Given the description of an element on the screen output the (x, y) to click on. 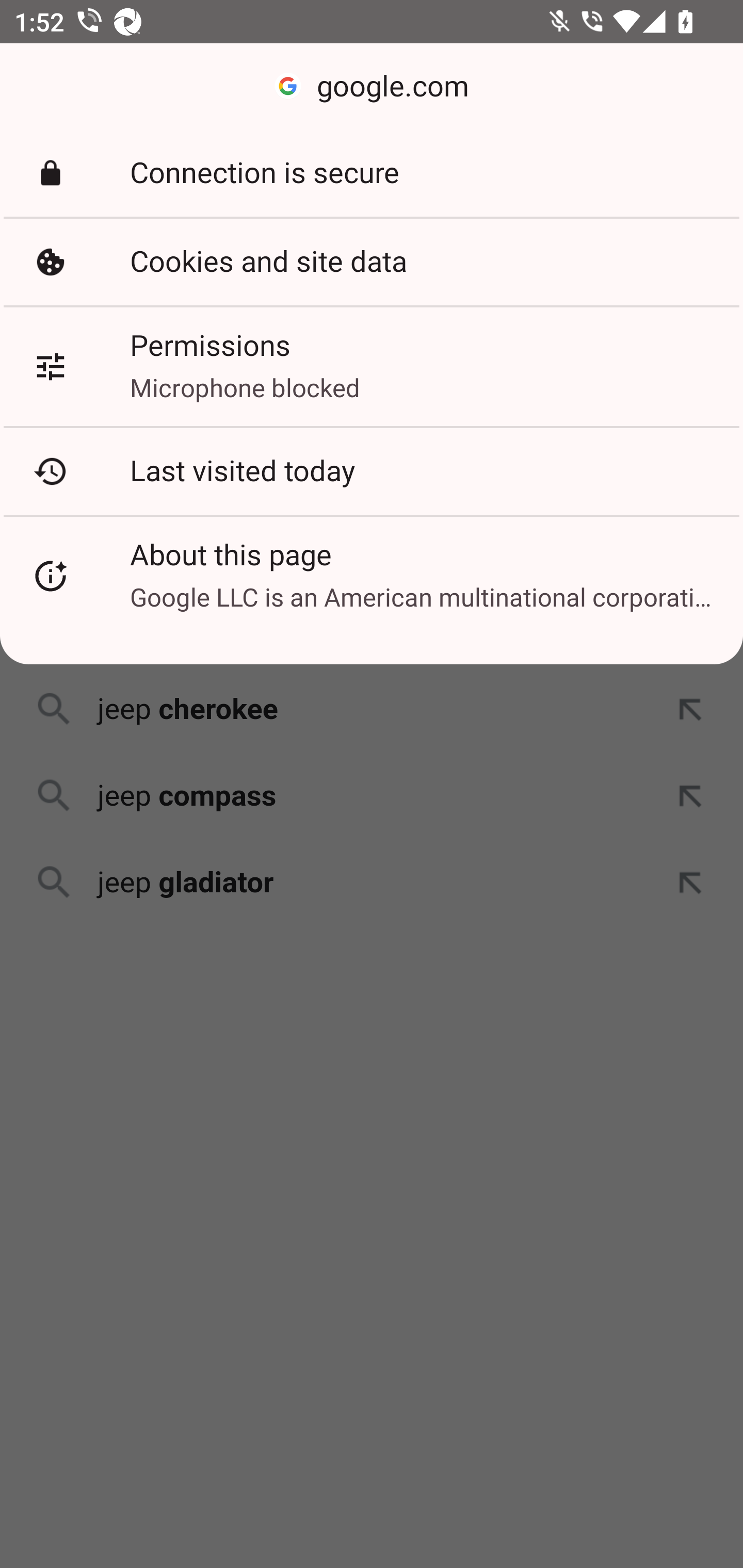
google.com (371, 86)
Connection is secure (371, 173)
Cookies and site data (371, 261)
Permissions Microphone blocked (371, 366)
Last visited today (371, 471)
